Given the description of an element on the screen output the (x, y) to click on. 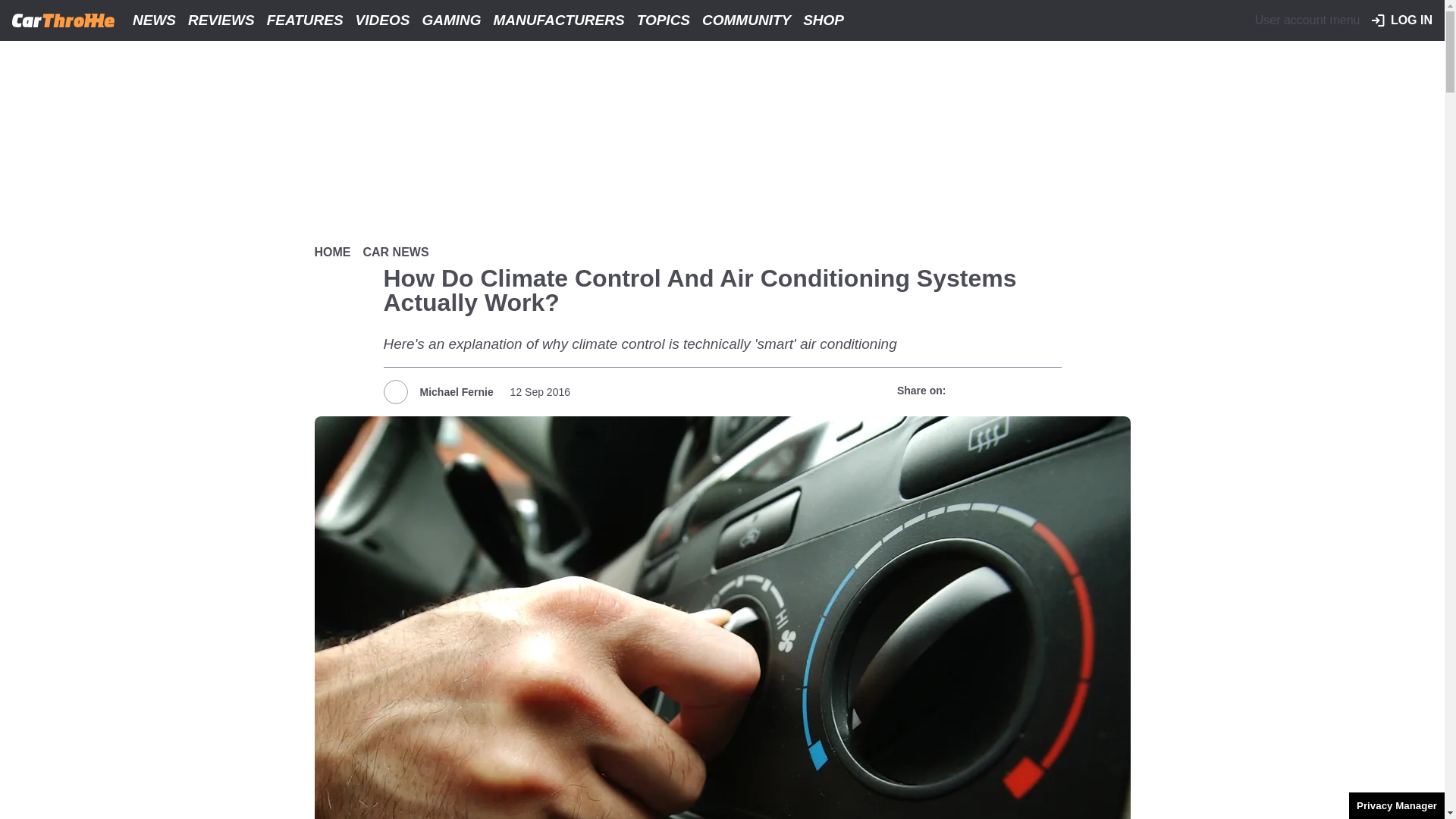
REVIEWS (221, 20)
GAMING (450, 20)
NEWS (154, 20)
Share to Email (1047, 390)
Share to Facebook (965, 390)
Share to WhatsApp (1020, 390)
VIDEOS (382, 20)
Share to X (993, 390)
MANUFACTURERS (558, 20)
